Given the description of an element on the screen output the (x, y) to click on. 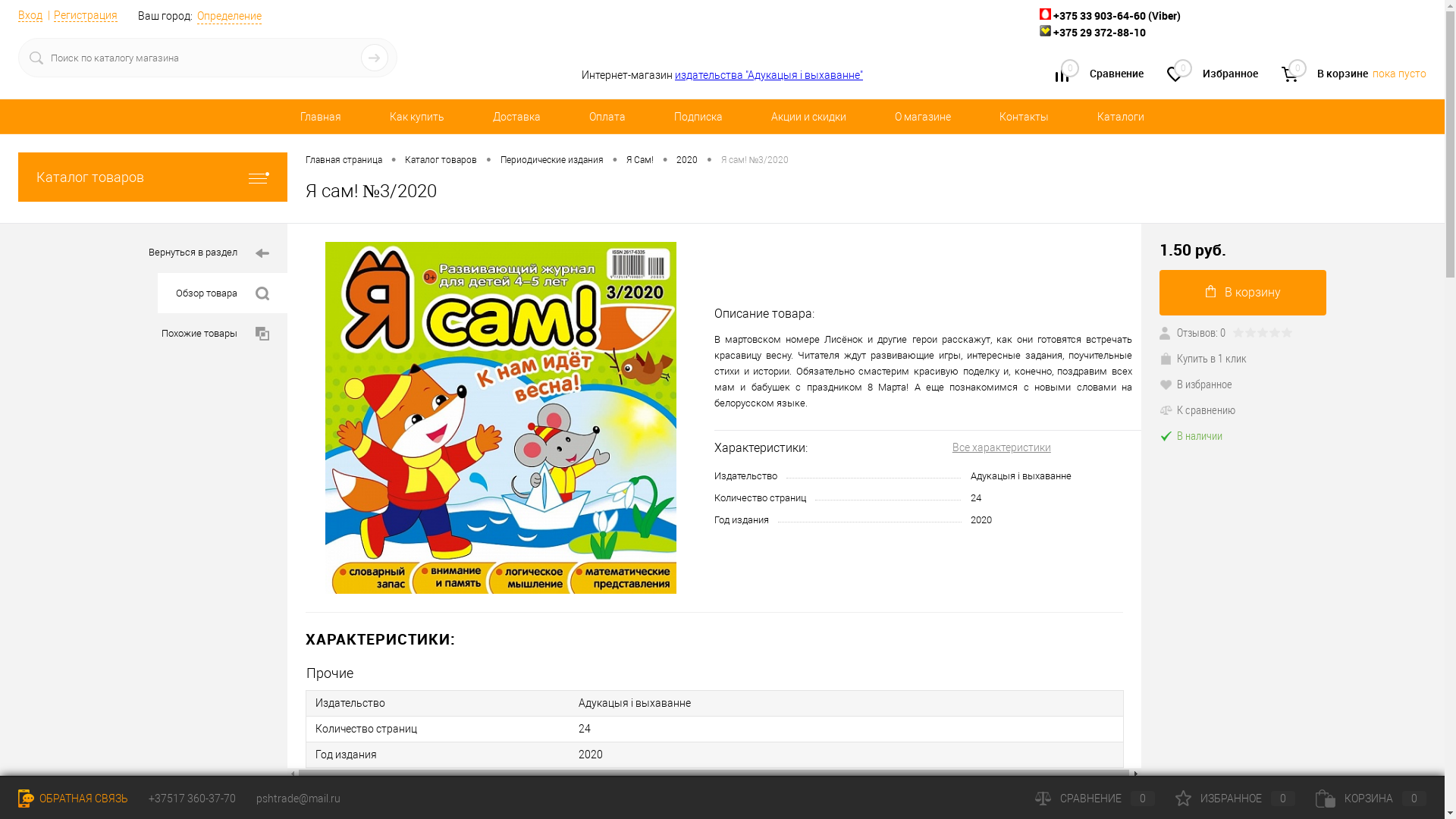
0 Element type: text (1175, 76)
Y Element type: text (374, 57)
0 Element type: text (1062, 76)
+37517 360-37-70 Element type: text (191, 798)
pshtrade@mail.ru Element type: text (298, 798)
2020 Element type: text (686, 160)
0 Element type: text (1289, 74)
